Given the description of an element on the screen output the (x, y) to click on. 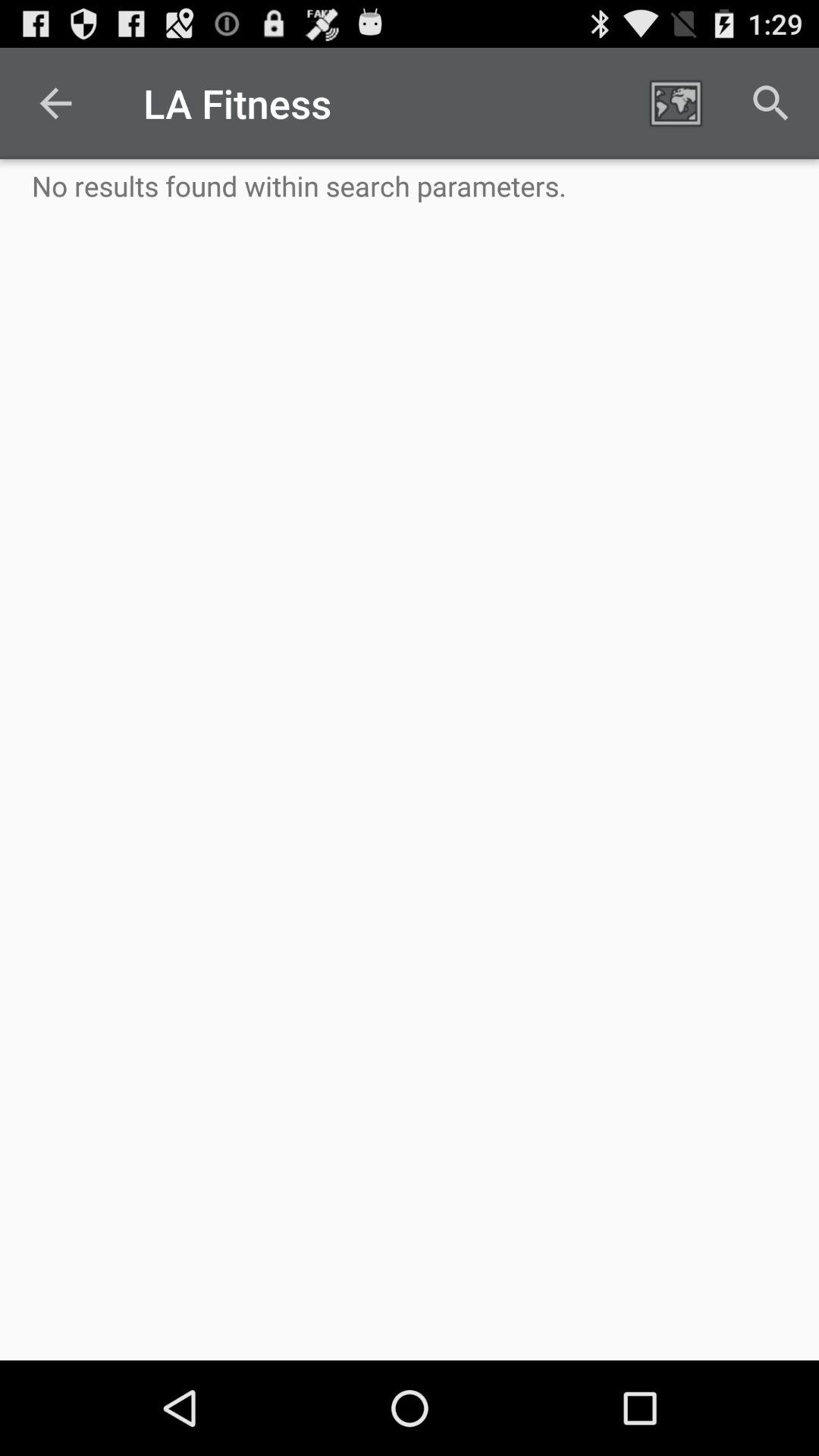
select the icon to the left of la fitness icon (55, 103)
